Given the description of an element on the screen output the (x, y) to click on. 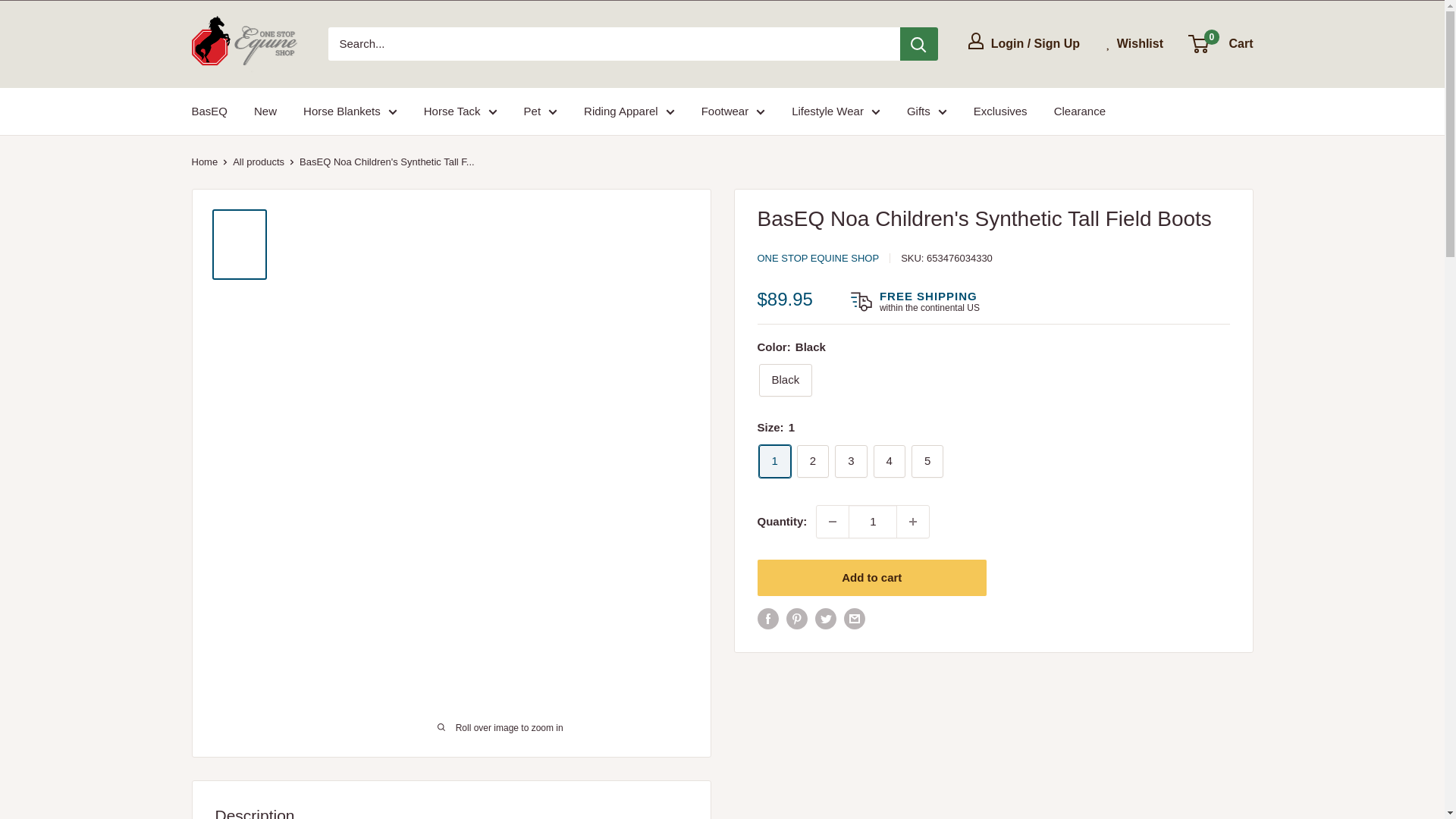
1 (872, 521)
1 (774, 461)
Black (785, 379)
4 (889, 461)
Increase quantity by 1 (912, 521)
3 (850, 461)
Decrease quantity by 1 (832, 521)
2 (812, 461)
5 (927, 461)
